Given the description of an element on the screen output the (x, y) to click on. 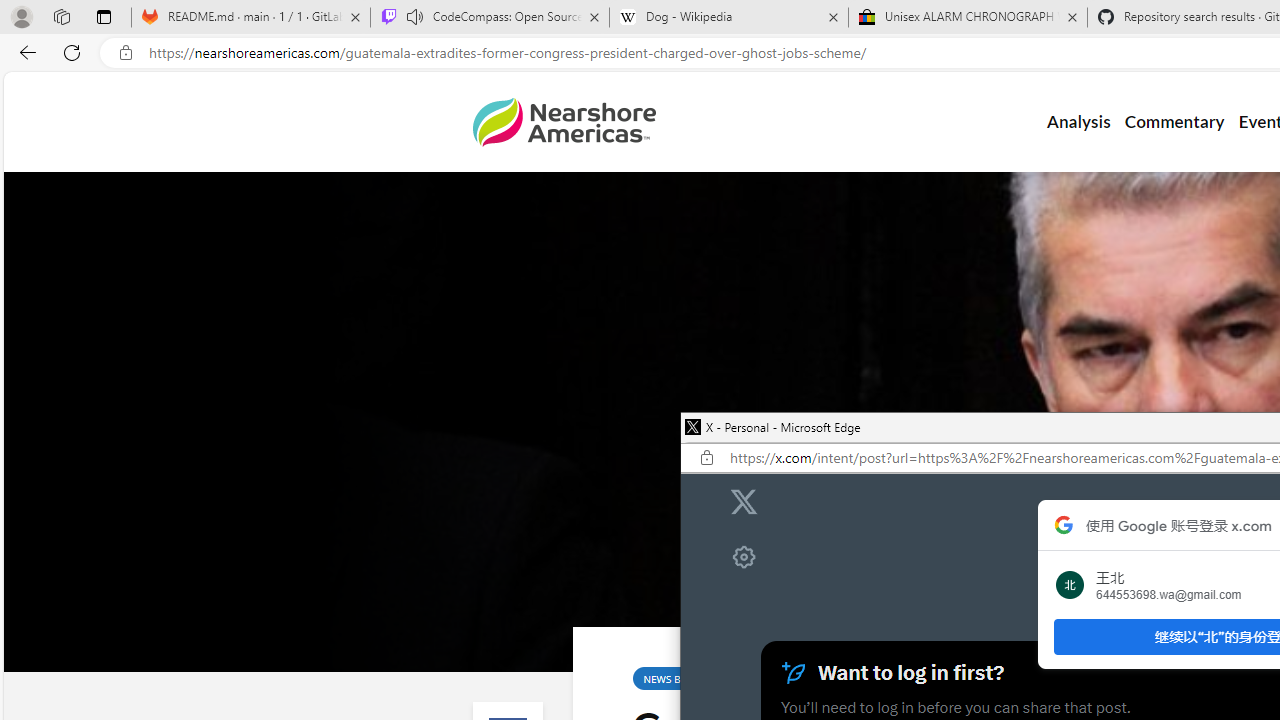
Analysis (1078, 121)
